Given the description of an element on the screen output the (x, y) to click on. 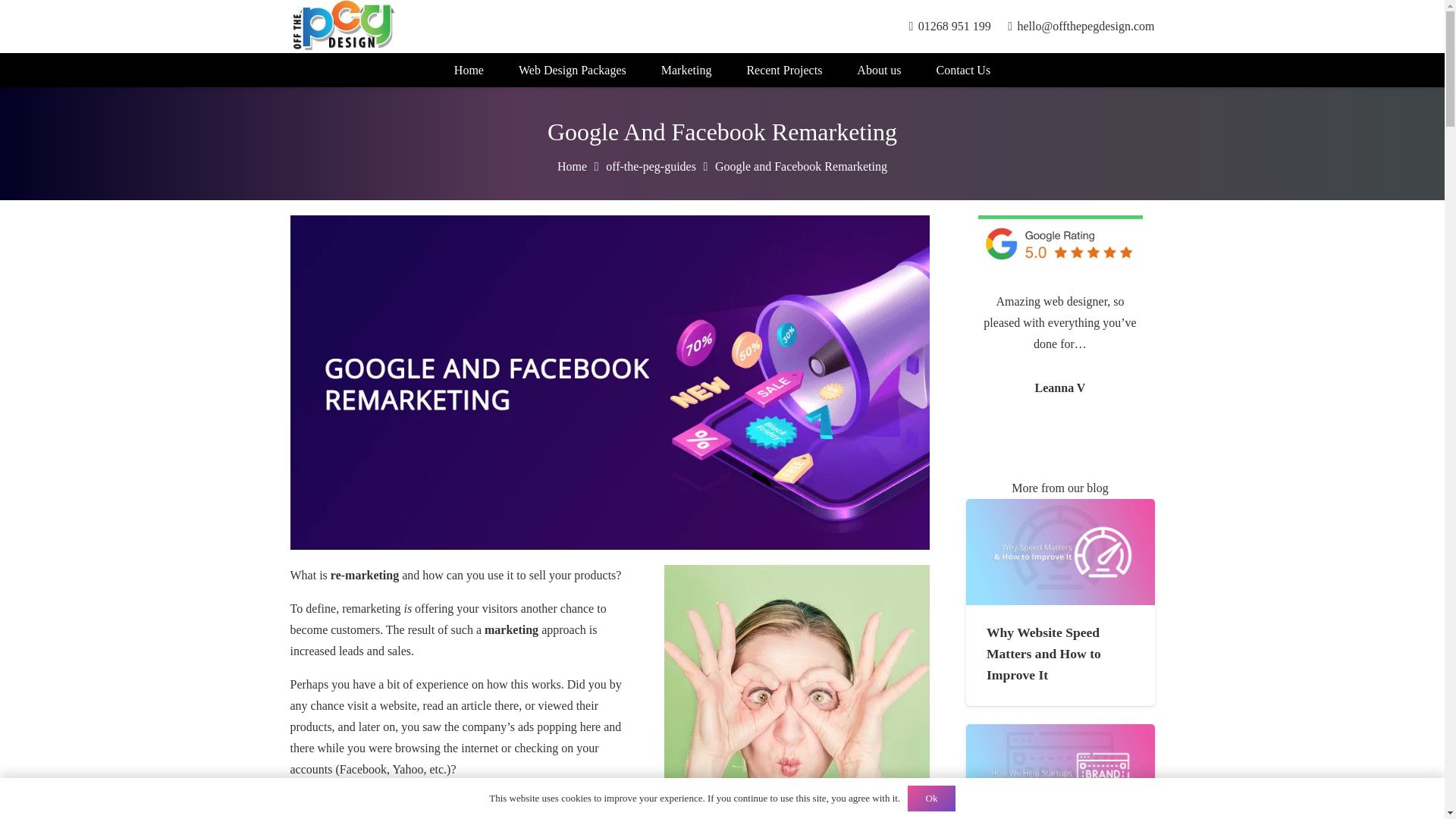
Contact Website Designers (963, 69)
off-the-peg-guides (650, 165)
About us (879, 69)
Web Design Packages (571, 69)
Home (571, 165)
Marketing (686, 69)
Web Design Packages (571, 69)
Google and Facebook Remarketing (800, 165)
Recent Projects (784, 69)
Home (468, 69)
Web design essex (468, 69)
Contact Us (963, 69)
01268 951 199 (949, 25)
